Given the description of an element on the screen output the (x, y) to click on. 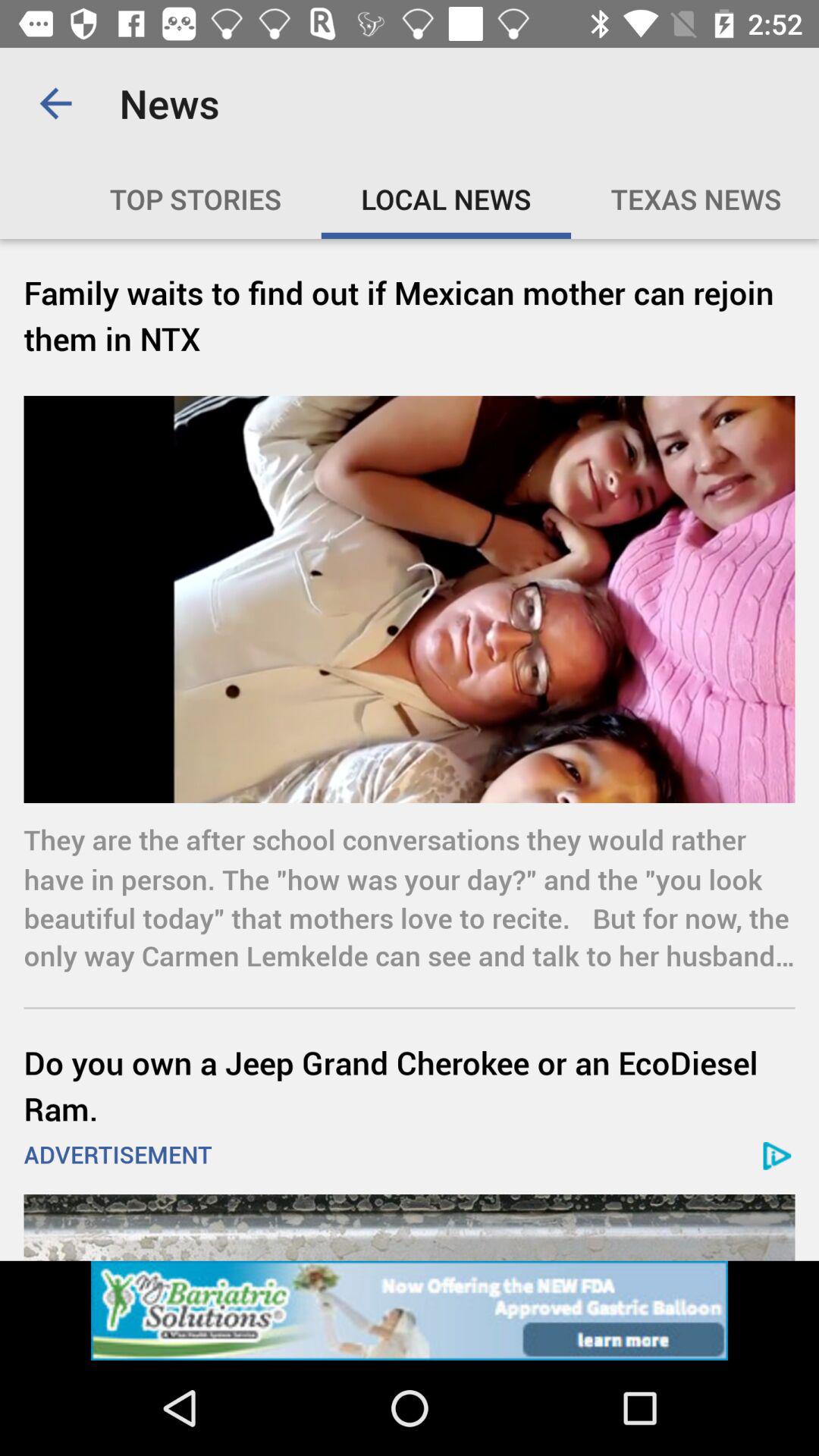
so the advertisement (409, 1310)
